Given the description of an element on the screen output the (x, y) to click on. 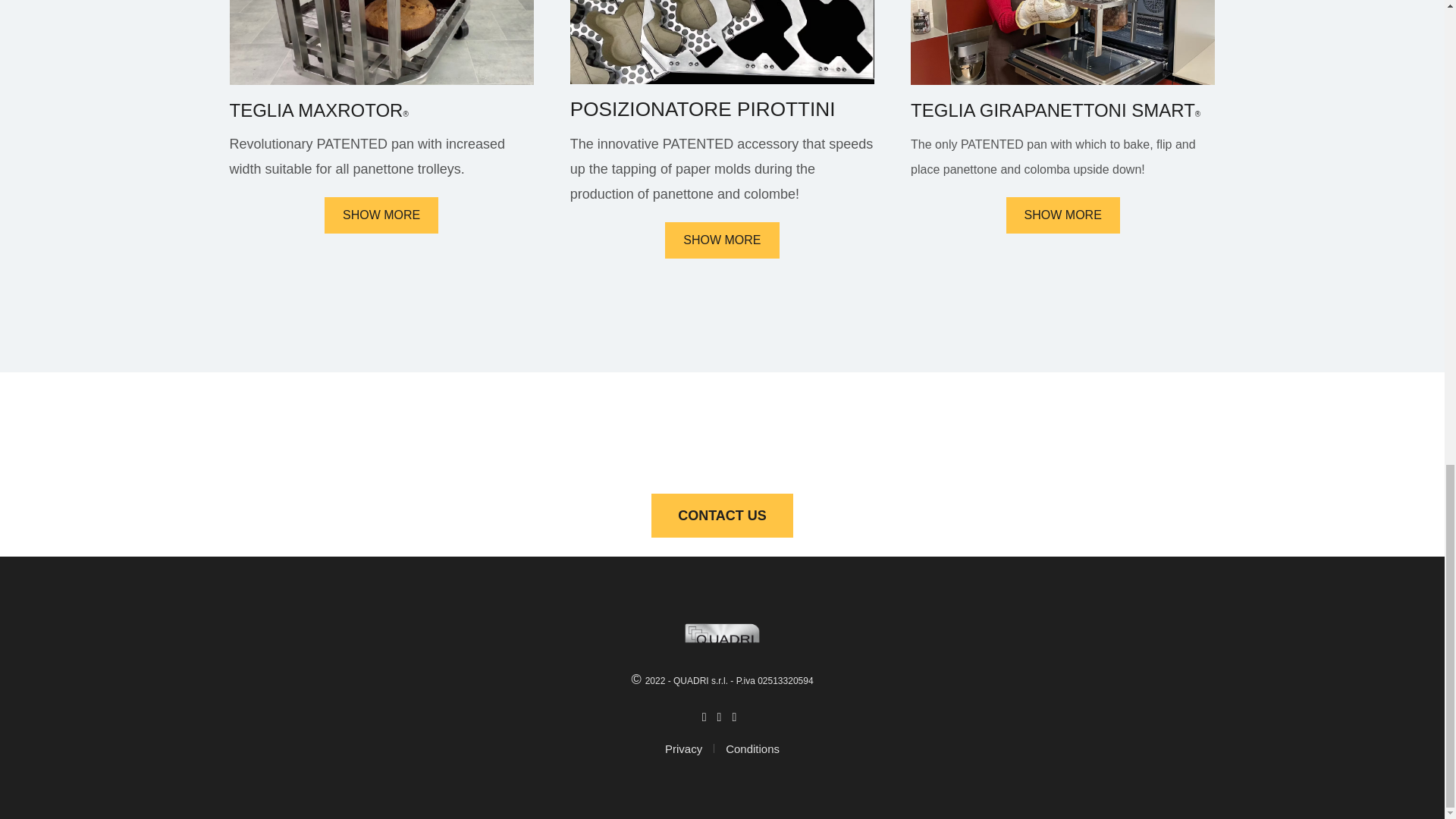
CONTACT US (721, 515)
SHOW MORE (1062, 215)
Privacy (689, 749)
SHOW MORE (381, 215)
Conditions (751, 749)
SHOW MORE (721, 239)
